Given the description of an element on the screen output the (x, y) to click on. 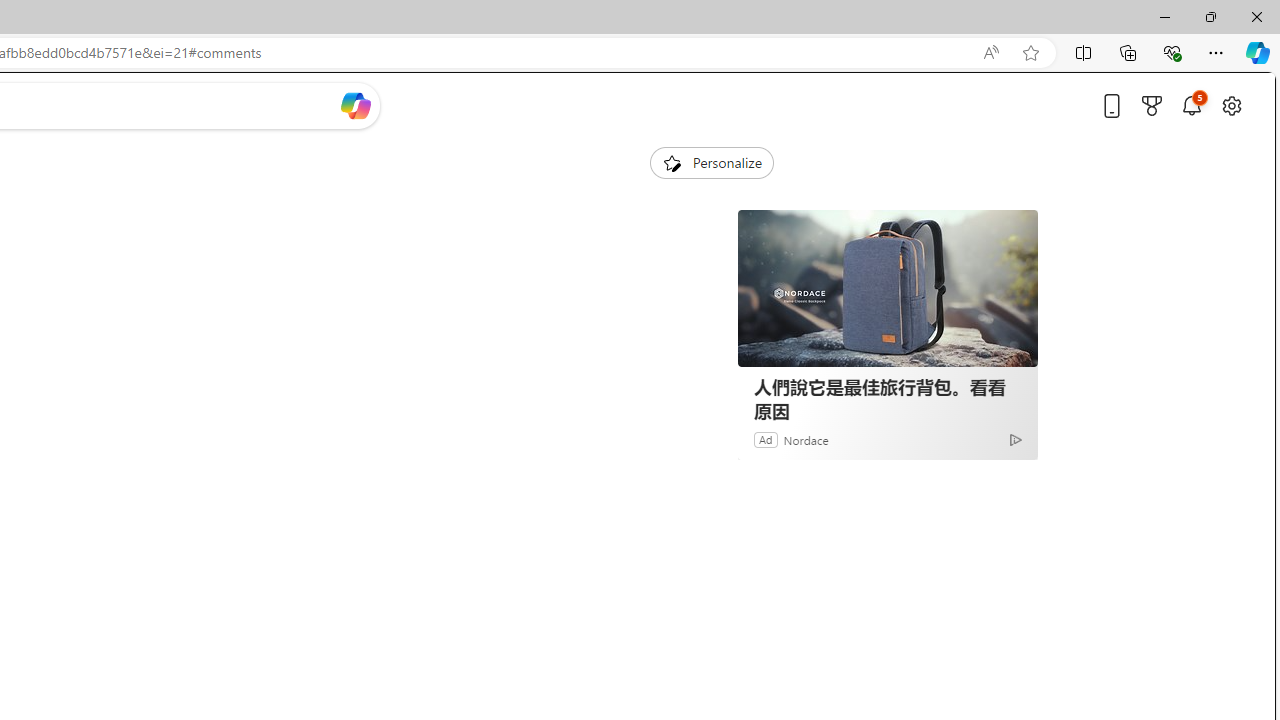
Open settings (1231, 105)
